Given the description of an element on the screen output the (x, y) to click on. 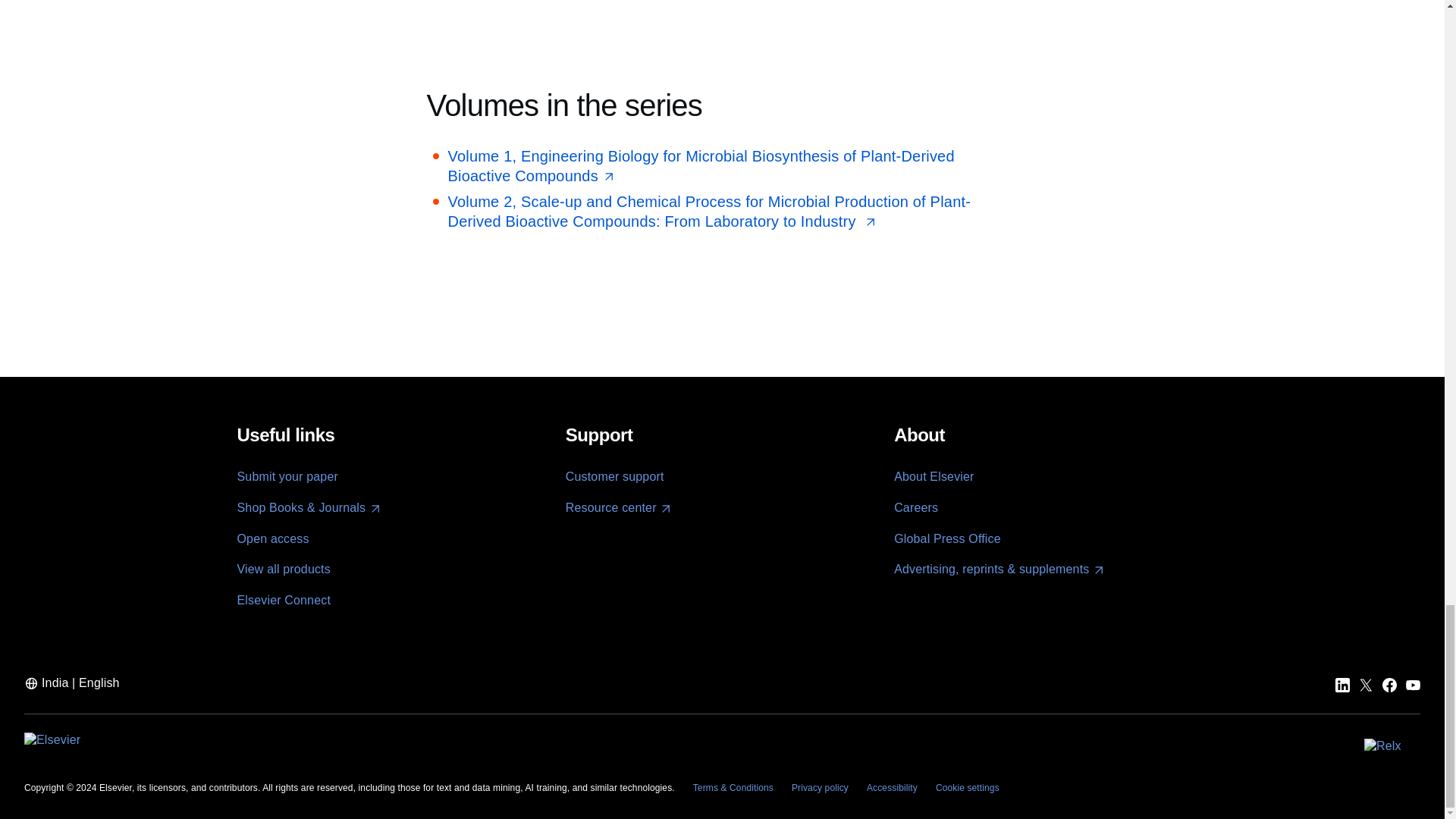
Submit your paper (286, 476)
Resource center (618, 508)
Elsevier Connect (282, 599)
Customer support (614, 476)
About Elsevier (933, 476)
View all products (282, 568)
Open access (271, 538)
